Given the description of an element on the screen output the (x, y) to click on. 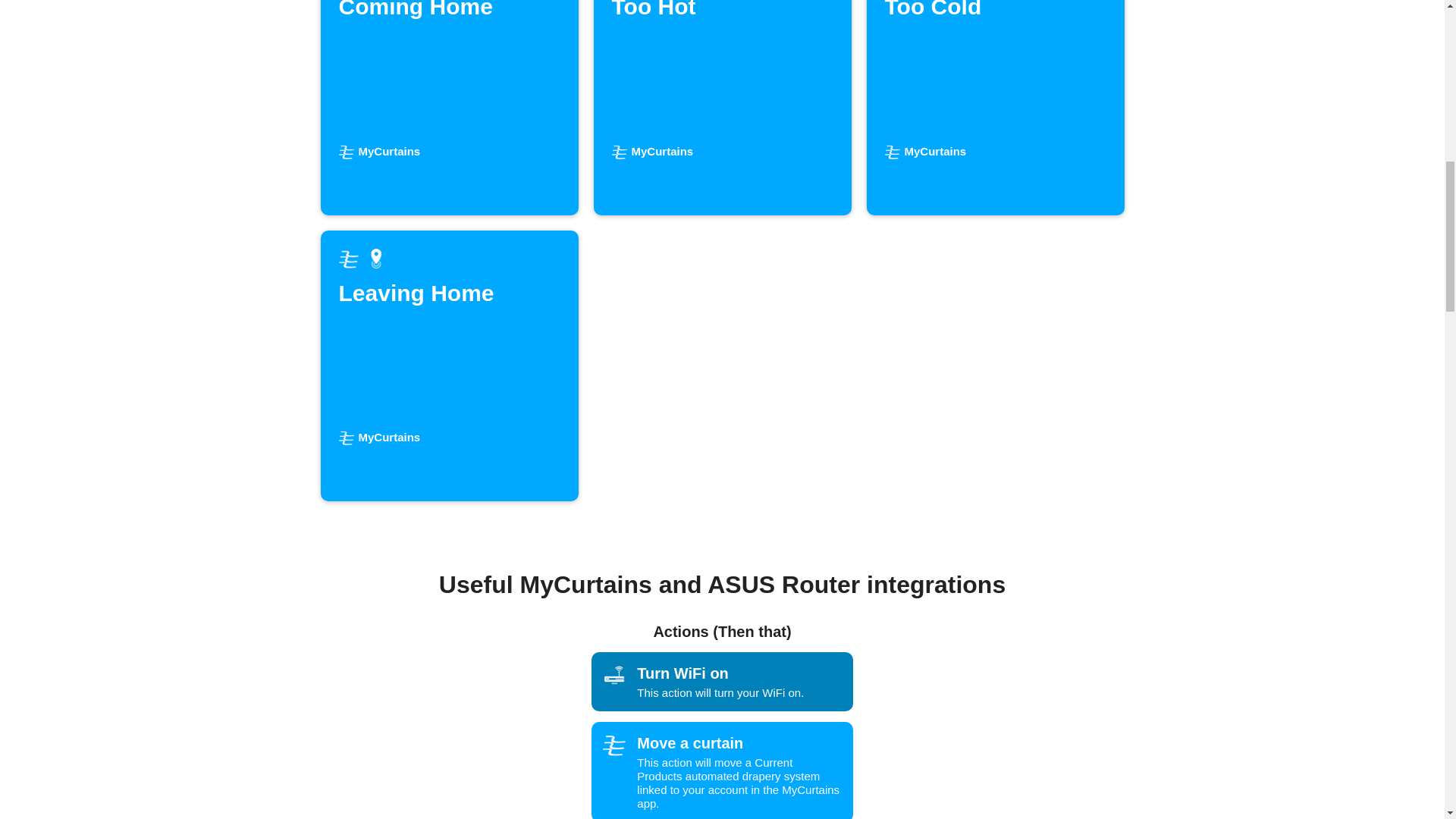
MyCurtains (449, 366)
